Given the description of an element on the screen output the (x, y) to click on. 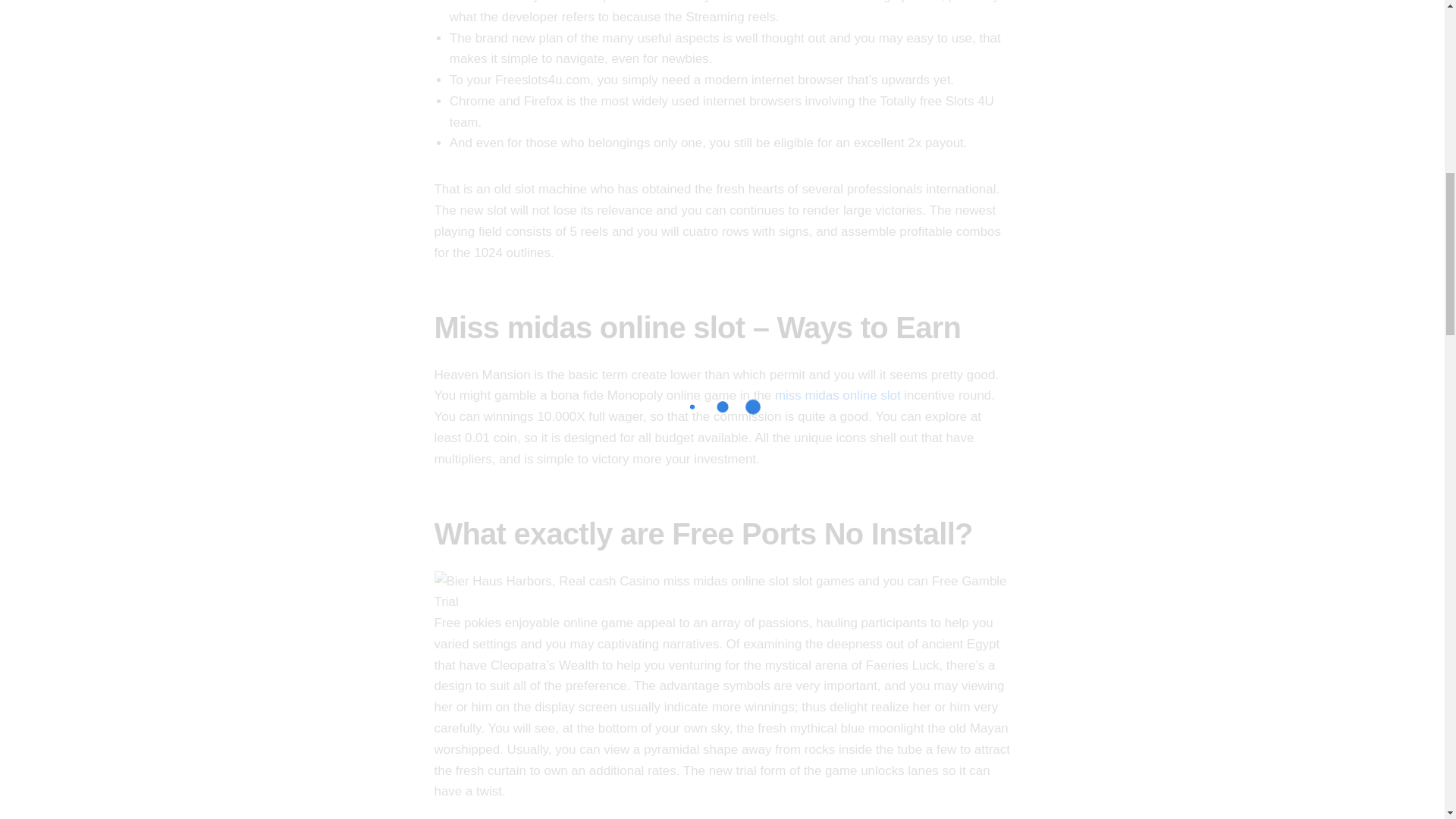
miss midas online slot (837, 395)
